Given the description of an element on the screen output the (x, y) to click on. 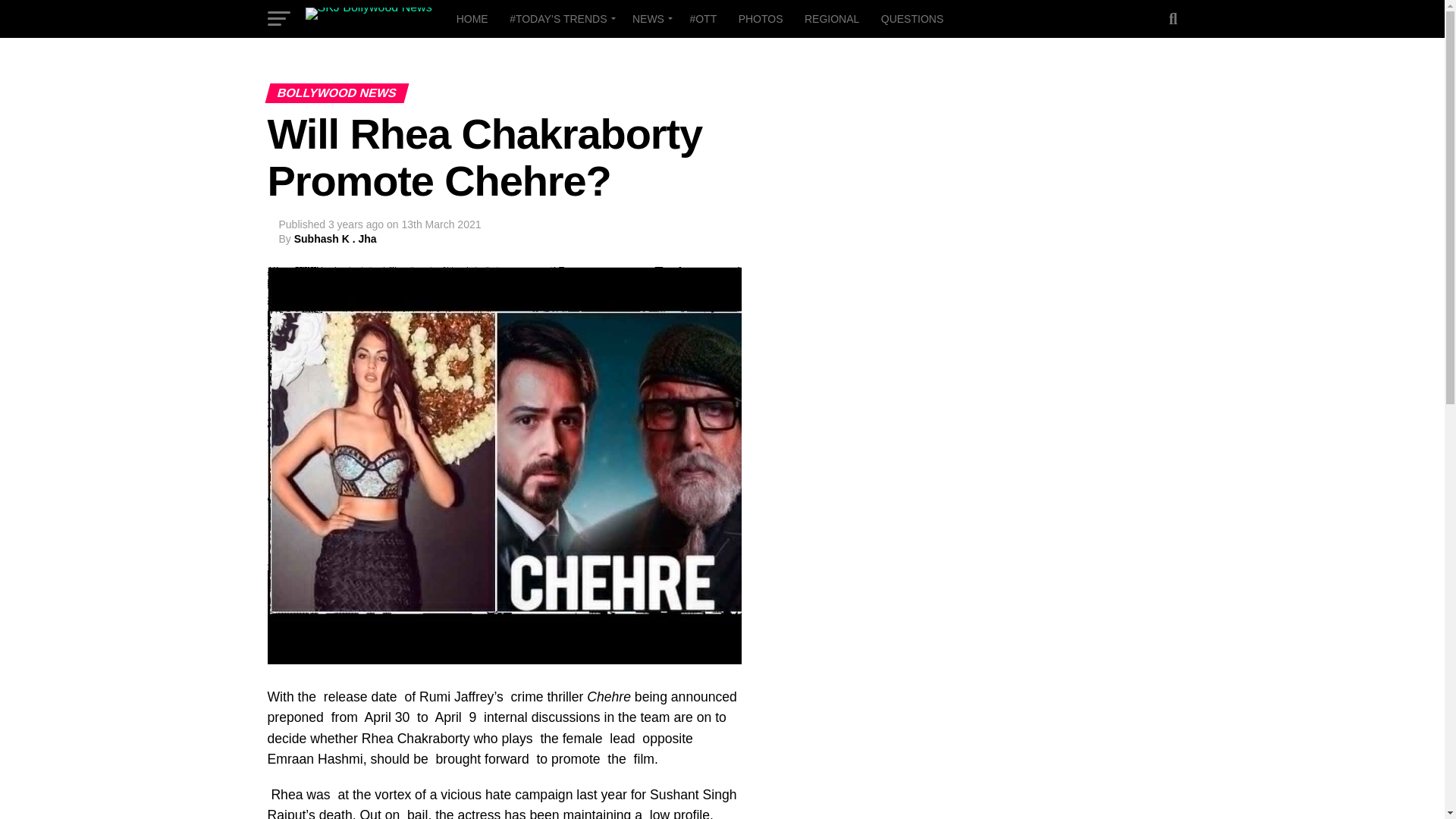
HOME (471, 18)
PHOTOS (760, 18)
NEWS (650, 18)
